Given the description of an element on the screen output the (x, y) to click on. 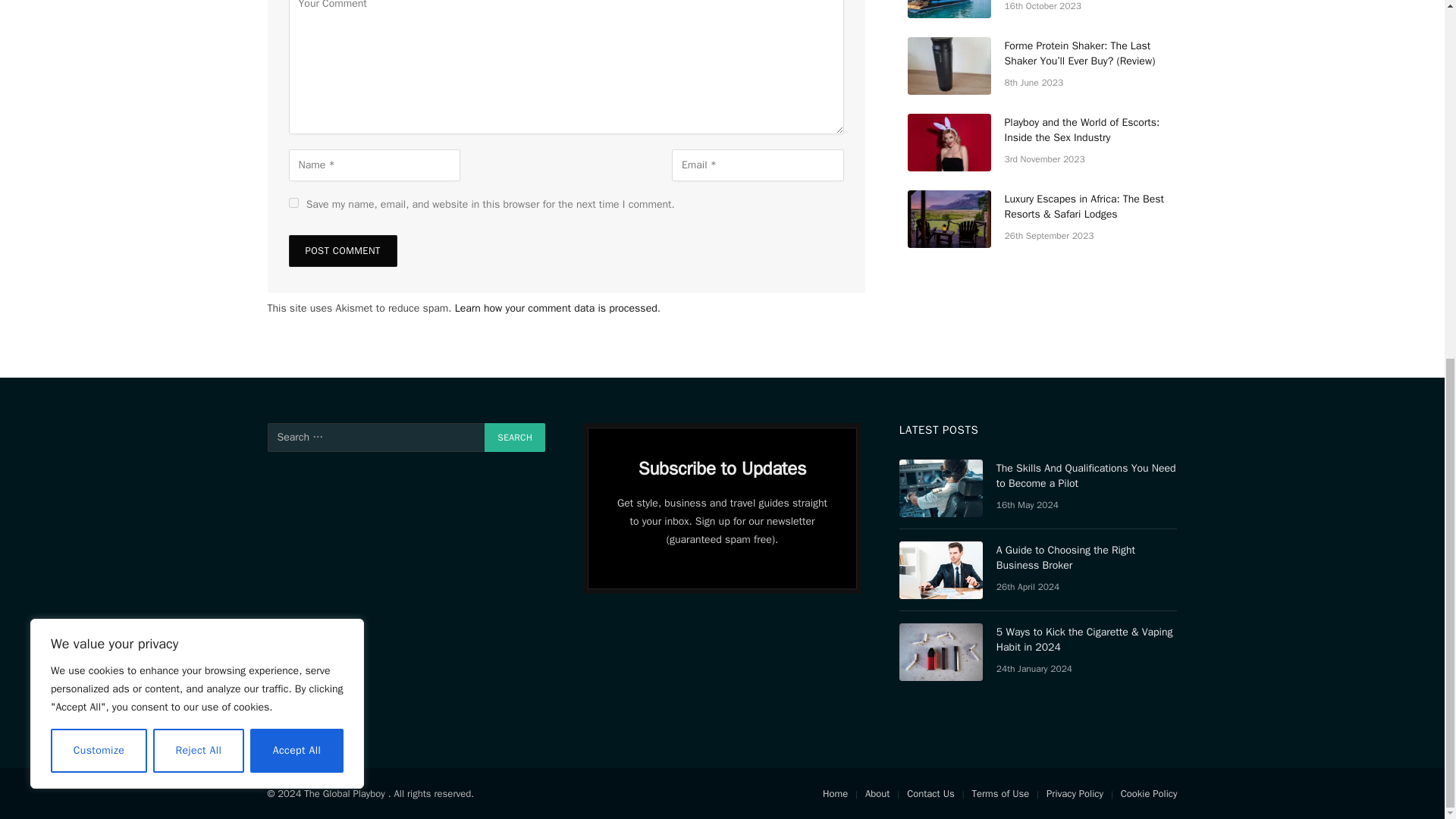
Accept All (296, 116)
Customize (98, 116)
Post Comment (342, 250)
Search (514, 437)
Search (514, 437)
Reject All (198, 116)
yes (293, 203)
